Given the description of an element on the screen output the (x, y) to click on. 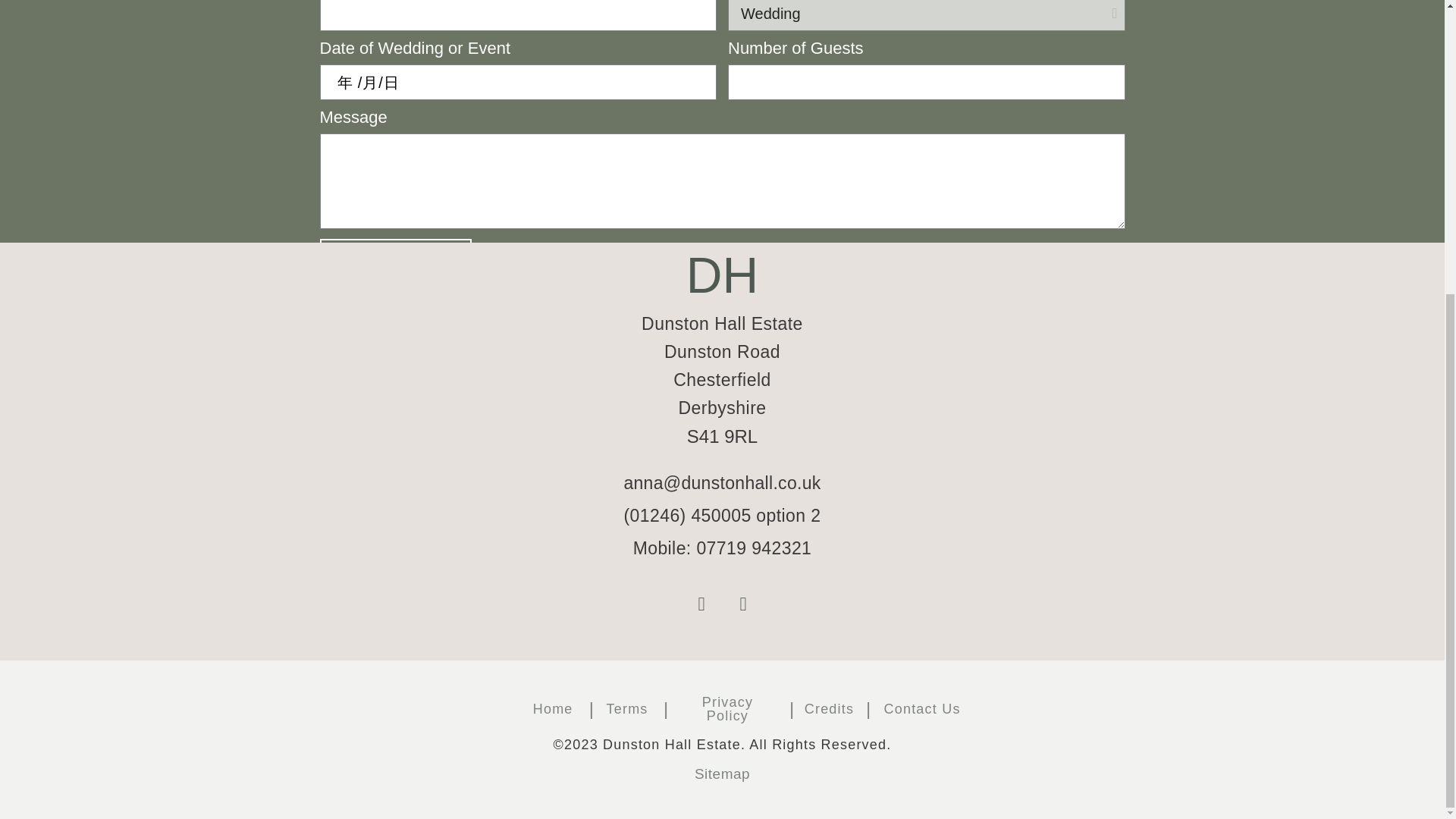
Home (552, 708)
Mobile: 07719 942321 (722, 547)
Terms (627, 708)
Privacy Policy (726, 708)
Sitemap (721, 773)
Credits (829, 708)
Contact Us (921, 708)
Submit (395, 258)
